Given the description of an element on the screen output the (x, y) to click on. 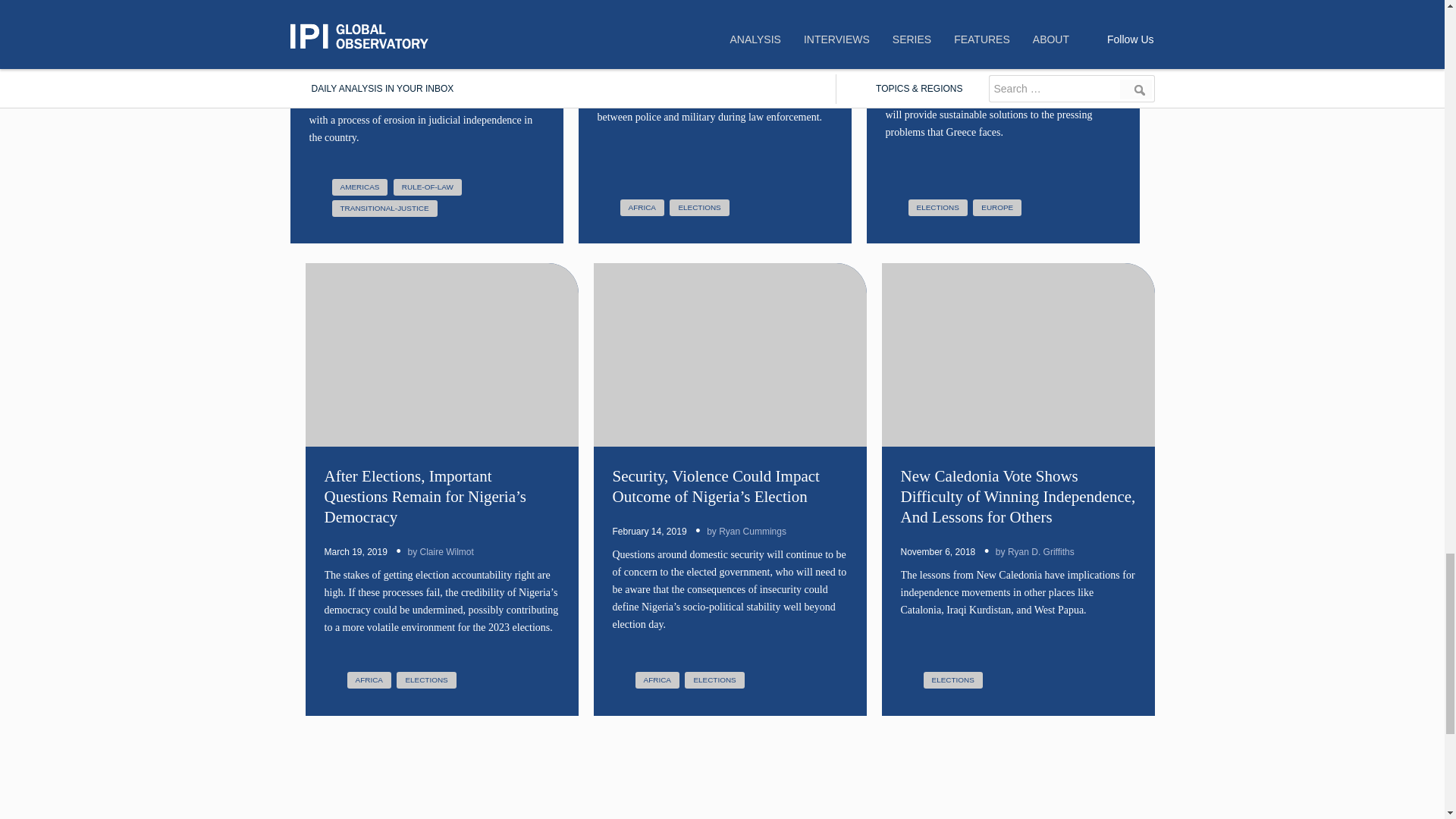
transitional justice (384, 208)
